Given the description of an element on the screen output the (x, y) to click on. 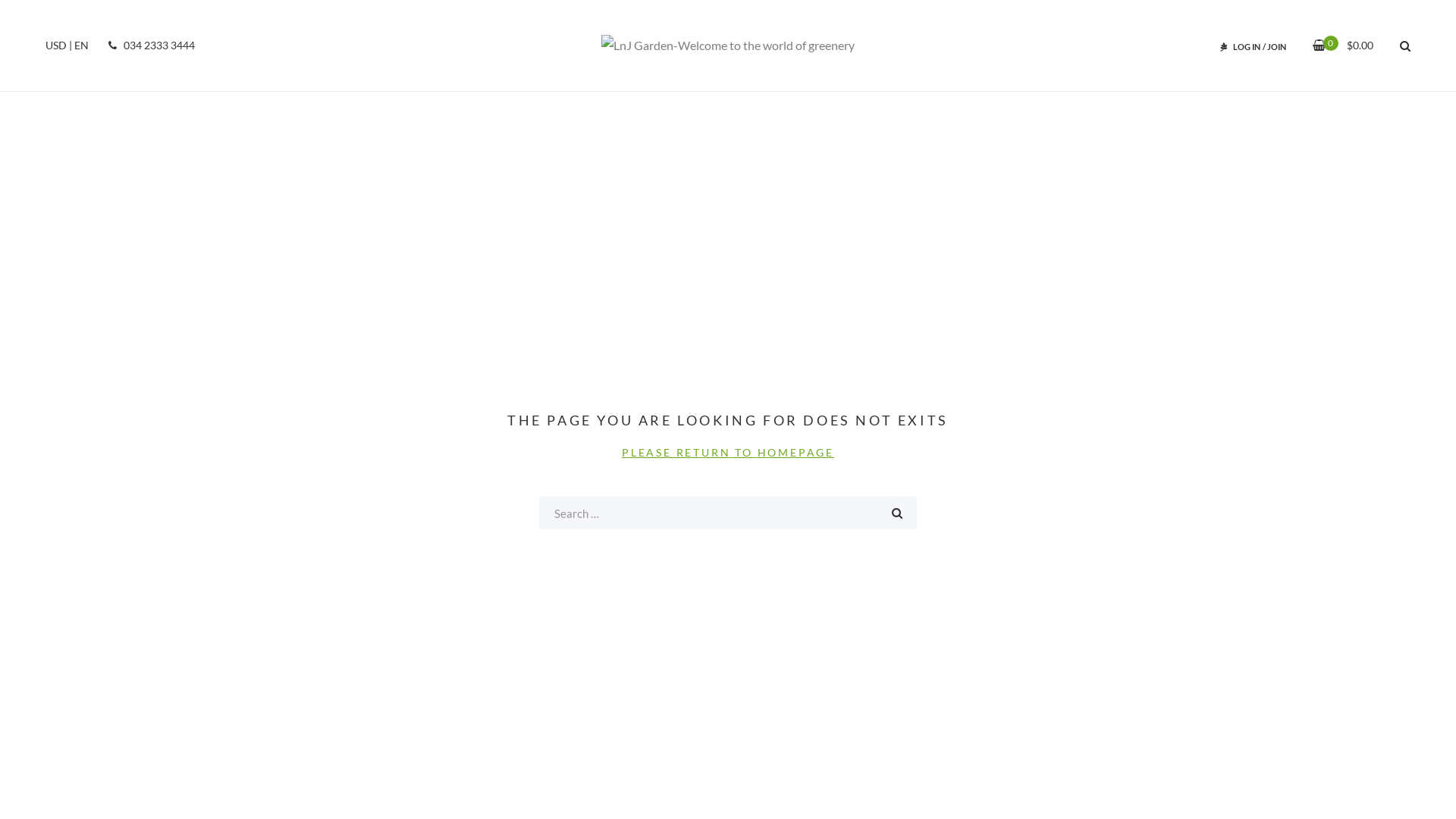
JOIN Element type: text (1276, 46)
Search Element type: text (896, 512)
PLEASE RETURN TO HOMEPAGE Element type: text (727, 451)
$0.00 Element type: text (1349, 44)
0 Element type: text (1318, 44)
034 2333 3444 Element type: text (149, 45)
LnJ Garden-Welcome to the world of greenery Element type: hover (727, 45)
LOG IN Element type: text (1246, 46)
